Given the description of an element on the screen output the (x, y) to click on. 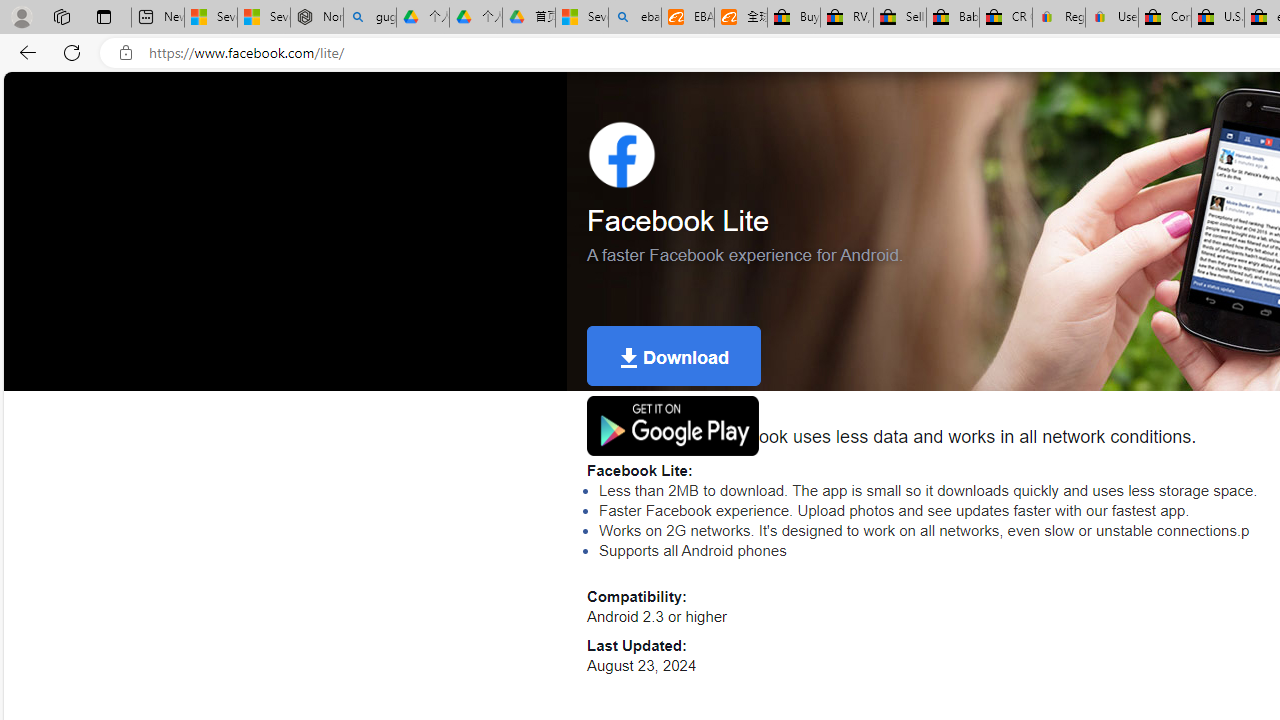
Buy Auto Parts & Accessories | eBay (794, 17)
Register: Create a personal eBay account (1059, 17)
Workspaces (61, 16)
Baby Keepsakes & Announcements for sale | eBay (952, 17)
Back (24, 52)
View site information (125, 53)
User Privacy Notice | eBay (1111, 17)
U.S. State Privacy Disclosures - eBay Inc. (1217, 17)
Tab actions menu (104, 16)
RV, Trailer & Camper Steps & Ladders for sale | eBay (846, 17)
Consumer Health Data Privacy Policy - eBay Inc. (1165, 17)
